Given the description of an element on the screen output the (x, y) to click on. 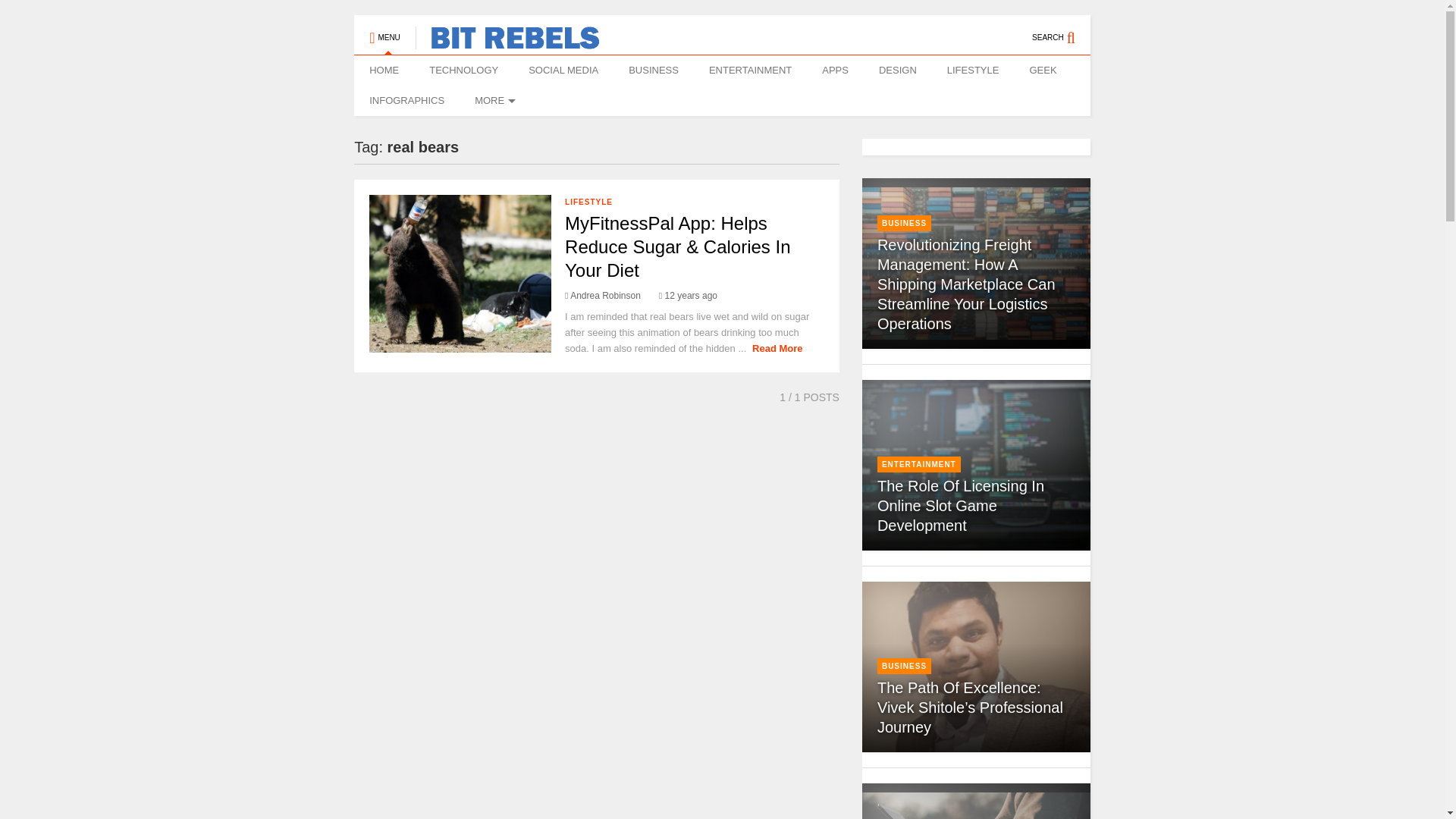
LIFESTYLE (972, 70)
SEARCH (1061, 30)
DESIGN (897, 70)
The Role Of Licensing In Online Slot Game Development (960, 505)
TECHNOLOGY (463, 70)
MENU (383, 30)
SOCIAL MEDIA (562, 70)
LIFESTYLE (588, 202)
Bit Rebels (506, 42)
